Given the description of an element on the screen output the (x, y) to click on. 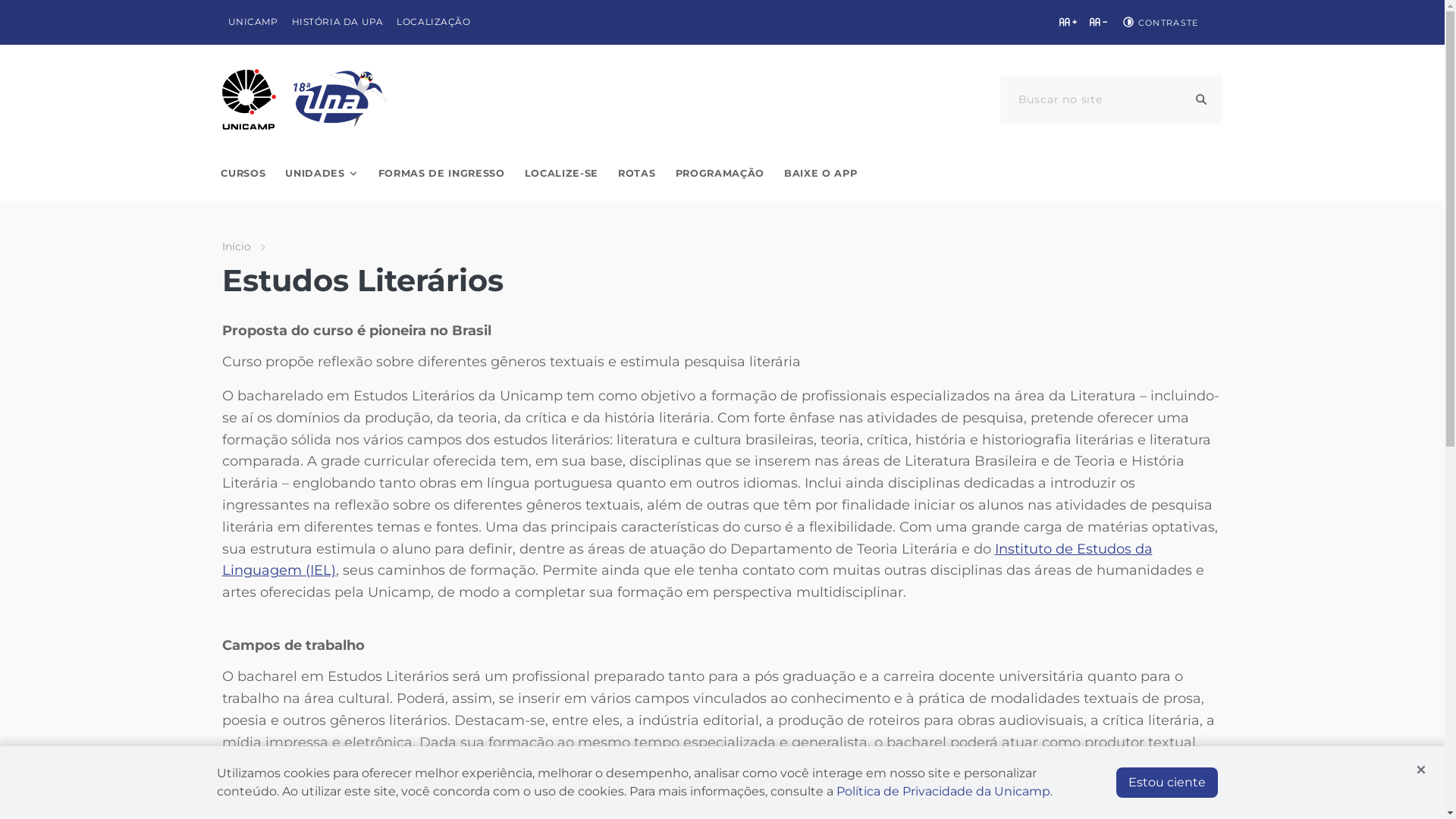
CONTRASTE Element type: text (1158, 21)
Fechar Element type: text (1420, 769)
ROTAS Element type: text (636, 173)
UNIDADES Element type: text (321, 173)
LOCALIZE-SE Element type: text (561, 173)
Aumentar fonte Element type: text (1067, 21)
CURSOS Element type: text (242, 173)
Estou ciente Element type: text (1166, 782)
Diminuir fonte Element type: text (1097, 21)
Buscar Element type: text (1201, 99)
Instituto de Estudos da Linguagem (IEL) Element type: text (686, 559)
FORMAS DE INGRESSO Element type: text (441, 173)
UNICAMP Element type: text (252, 22)
BAIXE O APP Element type: text (820, 173)
